Given the description of an element on the screen output the (x, y) to click on. 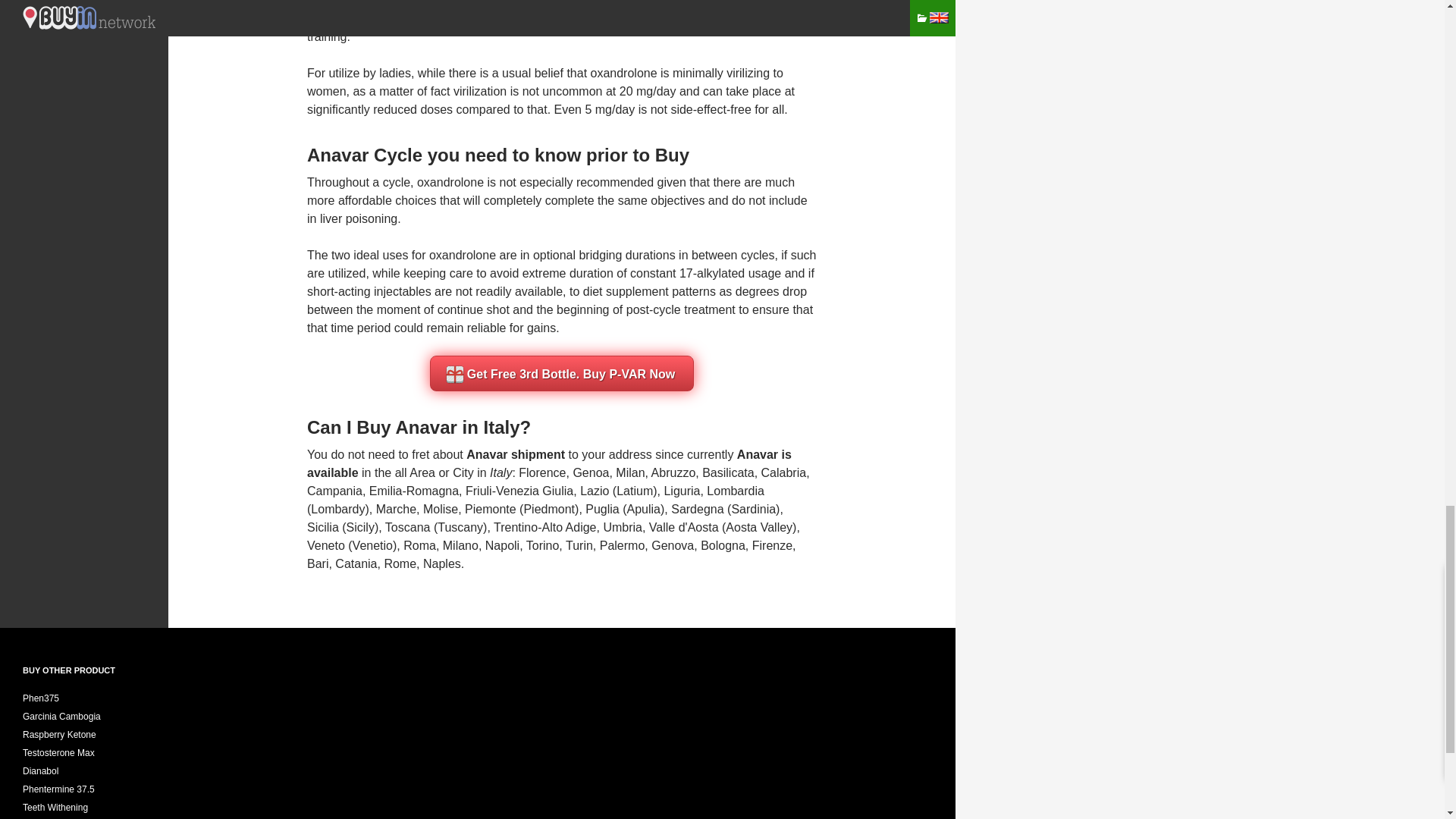
Where to Buy Anavar in Friuli-Venezia Giulia (519, 490)
Campania (334, 490)
Friuli-Venezia Giulia (519, 490)
Emilia-Romagna (413, 490)
Where to Buy Anavar in Abruzzo (672, 472)
Liguria (681, 490)
Where to Buy Anavar in Marche (395, 508)
Molise (440, 508)
Calabria (783, 472)
Abruzzo (672, 472)
